Given the description of an element on the screen output the (x, y) to click on. 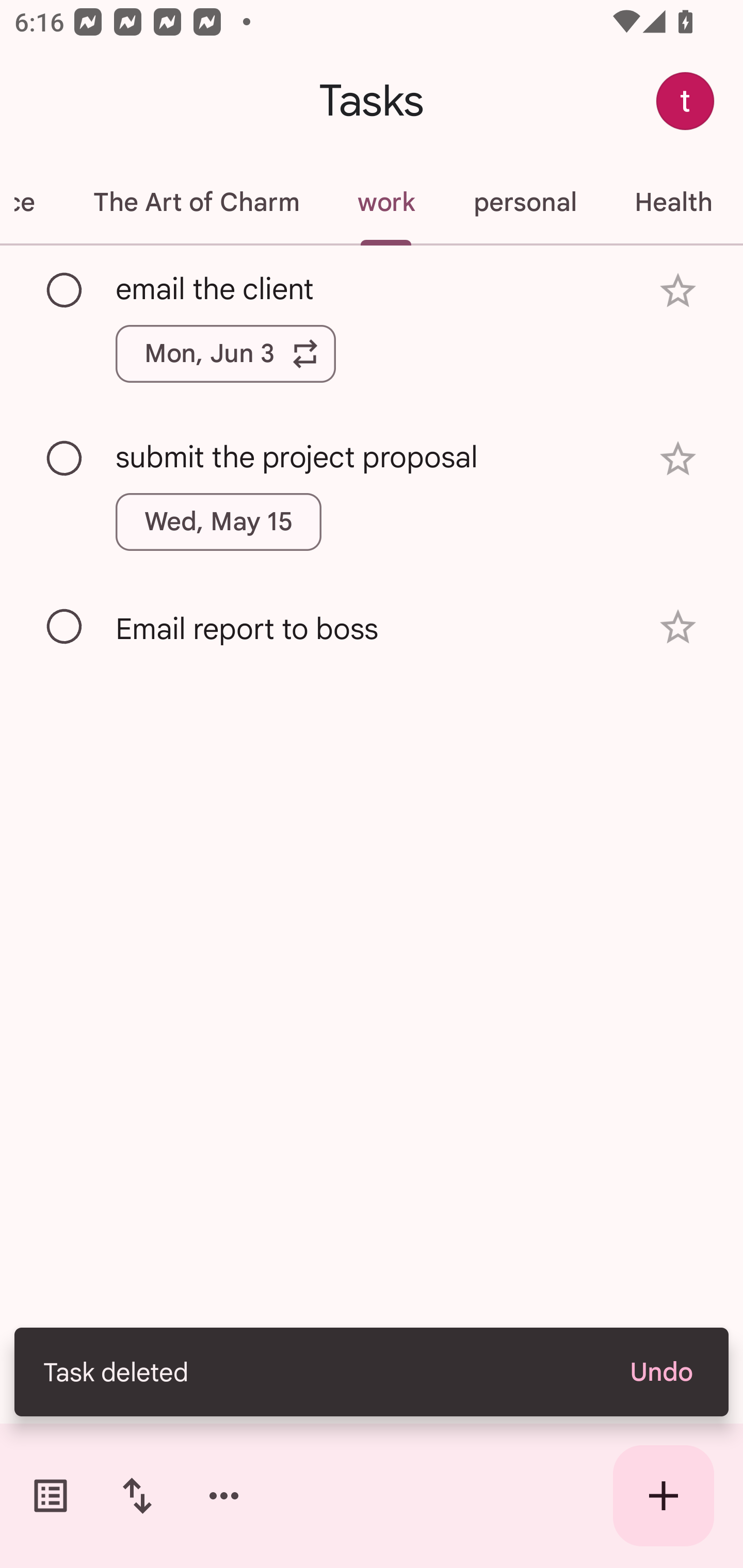
The Art of Charm (195, 202)
personal (524, 202)
Health (673, 202)
Add star (677, 290)
Mark as complete (64, 290)
Mon, Jun 3 (225, 353)
Add star (677, 458)
Mark as complete (64, 459)
Wed, May 15 (218, 522)
Add star (677, 627)
Mark as complete (64, 627)
Undo (660, 1371)
Switch task lists (50, 1495)
Create new task (663, 1495)
Change sort order (136, 1495)
More options (223, 1495)
